Given the description of an element on the screen output the (x, y) to click on. 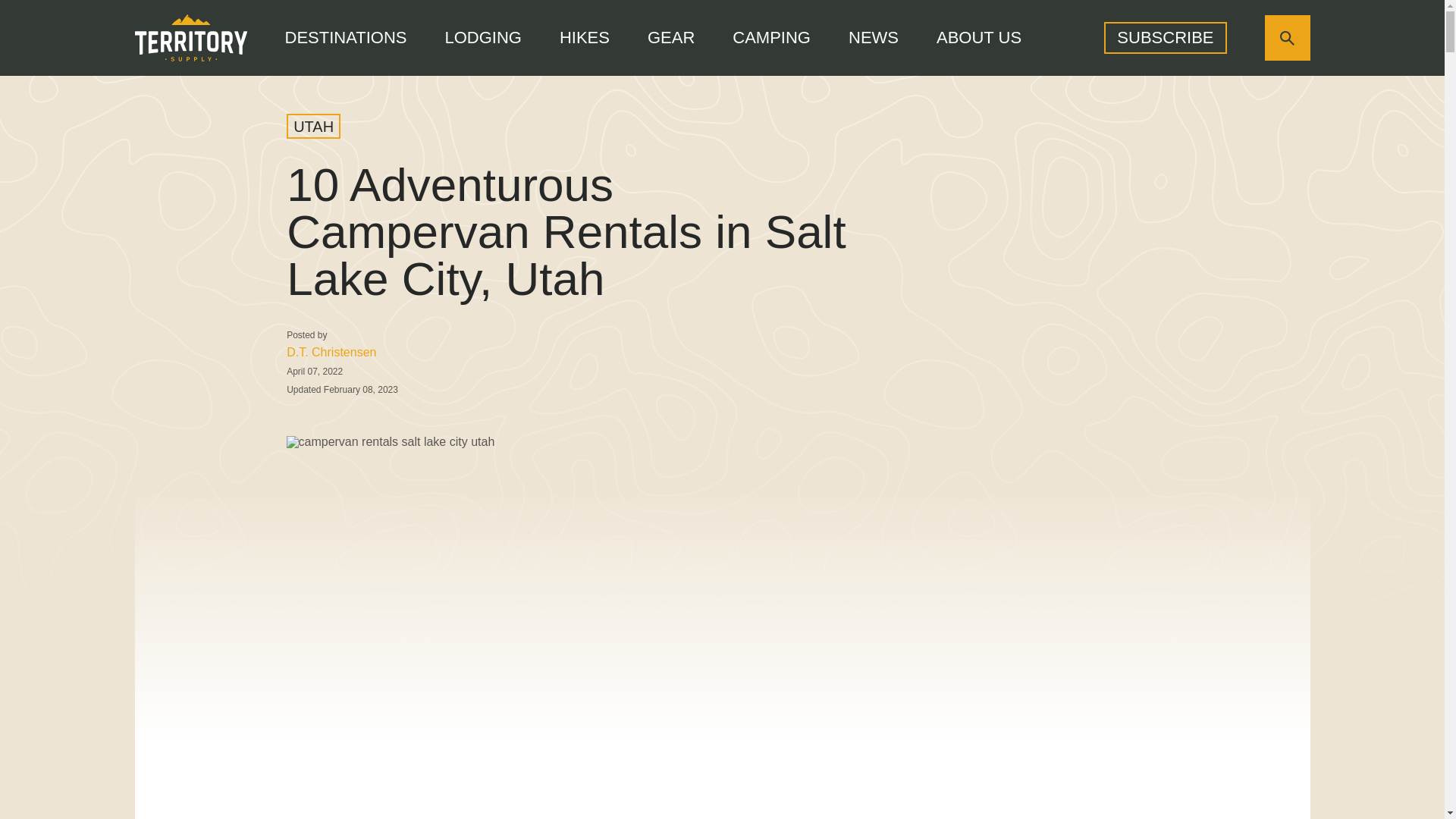
LODGING (482, 37)
SUBSCRIBE (1164, 38)
ABOUT US (979, 37)
CAMPING (771, 37)
DESTINATIONS (346, 37)
HIKES (584, 37)
NEWS (873, 37)
GEAR (670, 37)
